Given the description of an element on the screen output the (x, y) to click on. 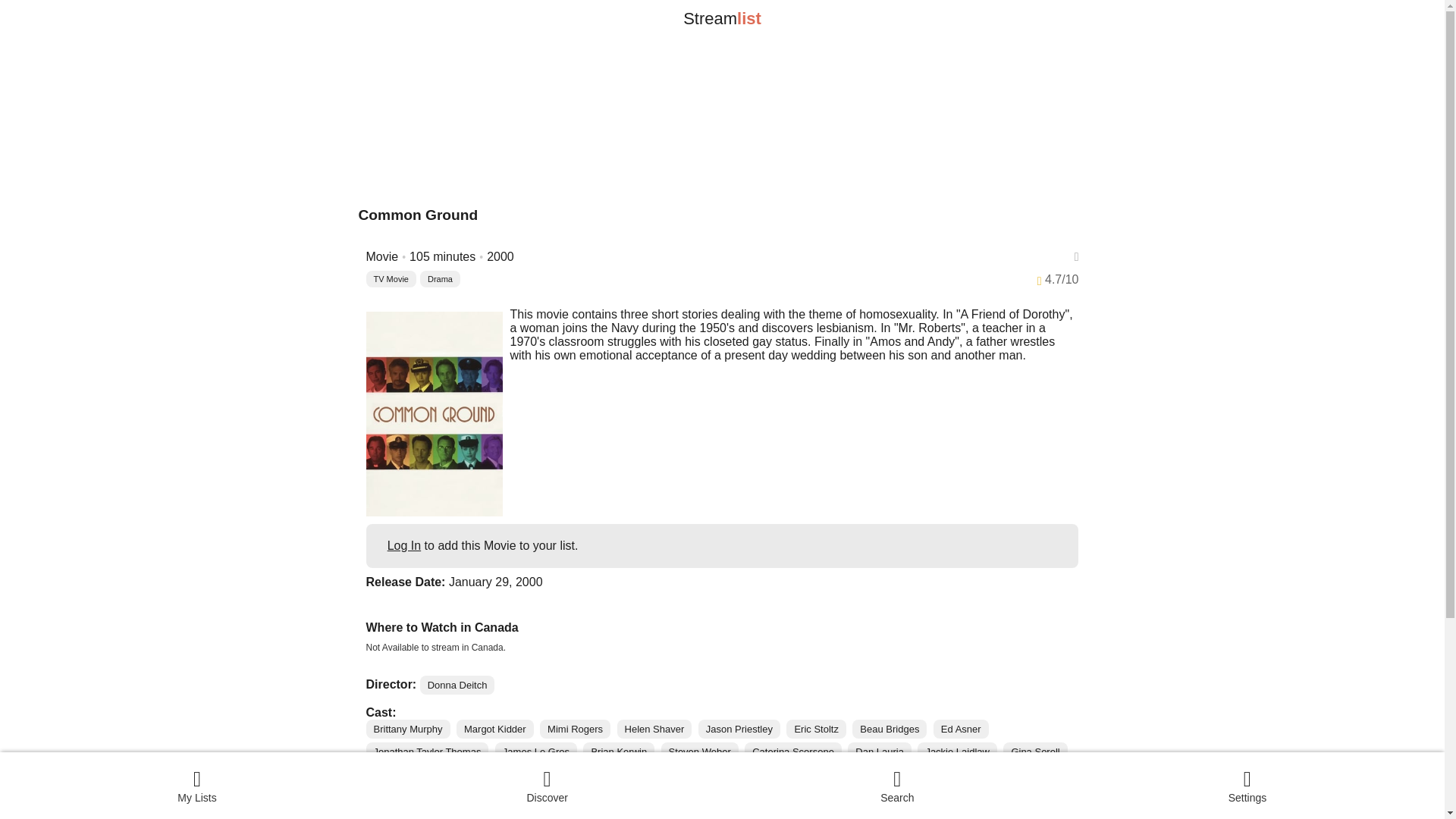
Harvey Fierstein (558, 773)
Eric Stoltz (815, 728)
Steven Weber (699, 751)
Donna Deitch (457, 684)
Gina Sorell (1035, 751)
Settings (1247, 785)
Streamlist (721, 18)
Beau Bridges (888, 728)
Aron Tager (476, 773)
Dan Lauria (879, 751)
Helen Shaver (655, 728)
James Le Gros (535, 751)
View on IMDB (411, 803)
TV Movie (389, 279)
Ed Asner (960, 728)
